Given the description of an element on the screen output the (x, y) to click on. 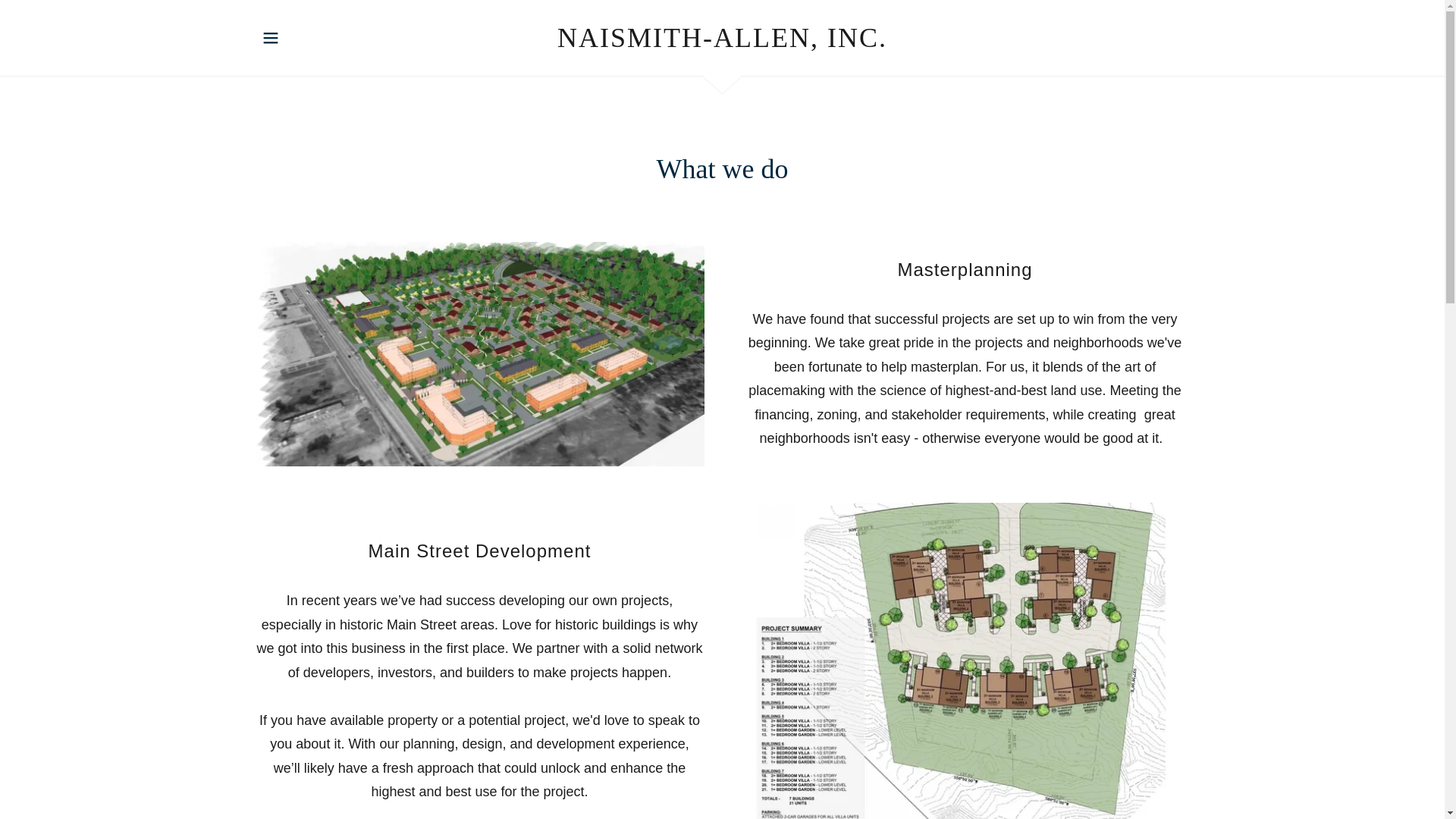
NAISMITH-ALLEN, INC. (721, 42)
Naismith-Allen, INC. (721, 42)
